Given the description of an element on the screen output the (x, y) to click on. 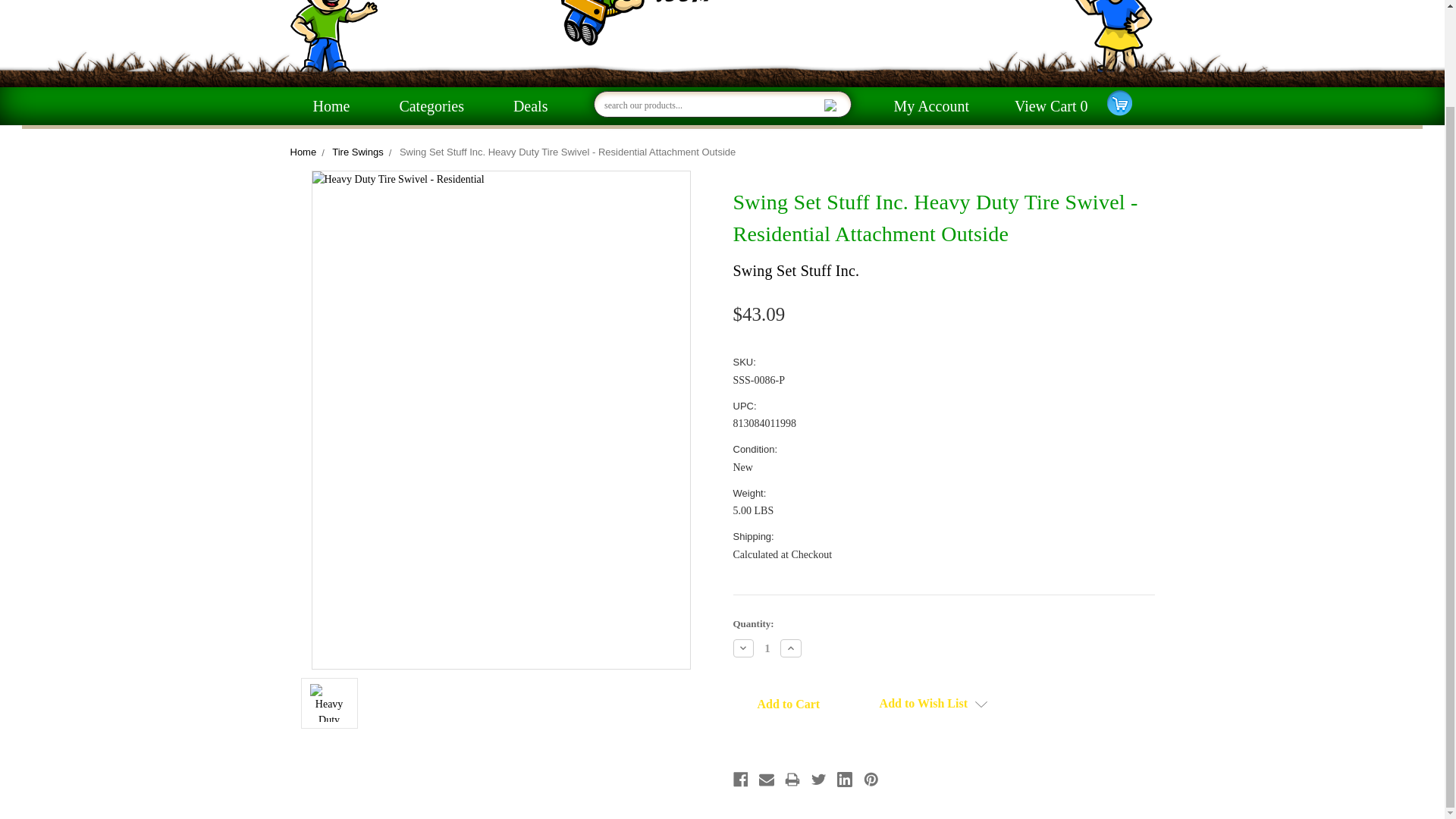
My Account (930, 105)
Home (330, 105)
Add to Wish List (933, 704)
1 (767, 648)
Add to Cart (788, 704)
Add to Cart (788, 704)
Home (302, 152)
Heavy Duty Tire Swivel - Residential (328, 702)
Increase Quantity: (791, 648)
